Given the description of an element on the screen output the (x, y) to click on. 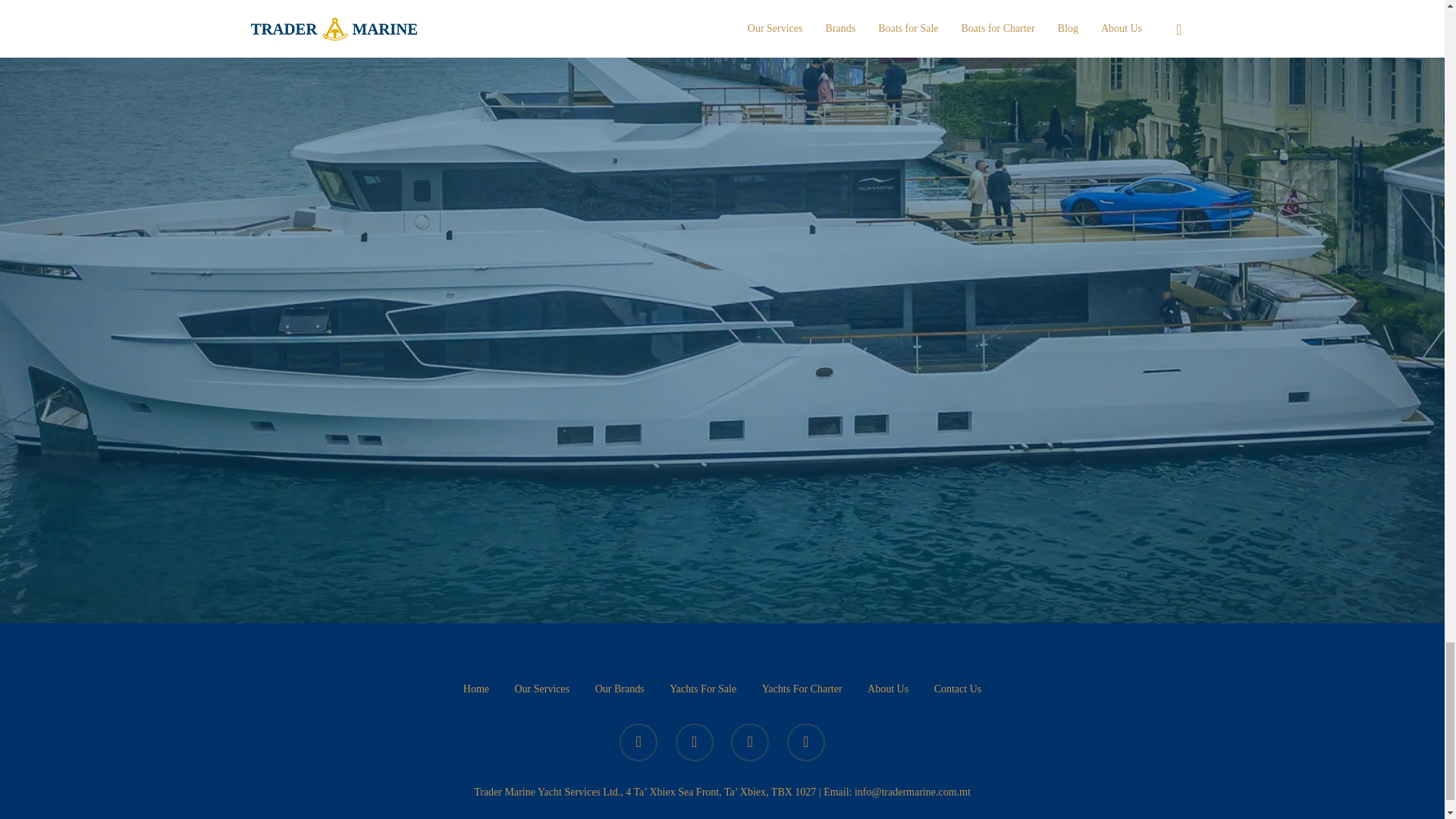
Home (476, 689)
Our Brands (620, 689)
Yachts For Charter (802, 689)
Yachts For Sale (702, 689)
Our Services (541, 689)
